Given the description of an element on the screen output the (x, y) to click on. 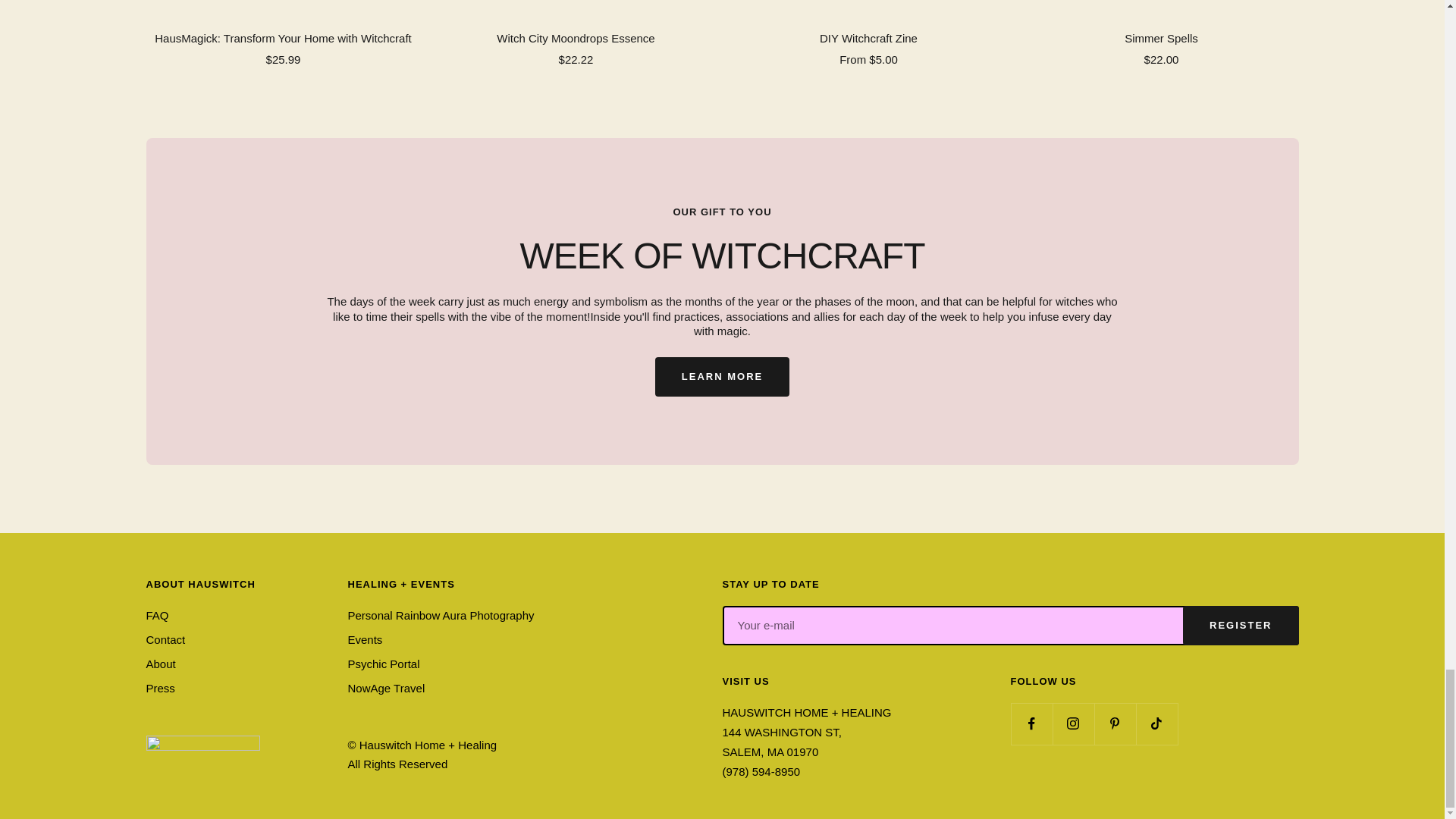
HausMagick: Transform Your Home with Witchcraft (282, 38)
Register (1240, 625)
